Given the description of an element on the screen output the (x, y) to click on. 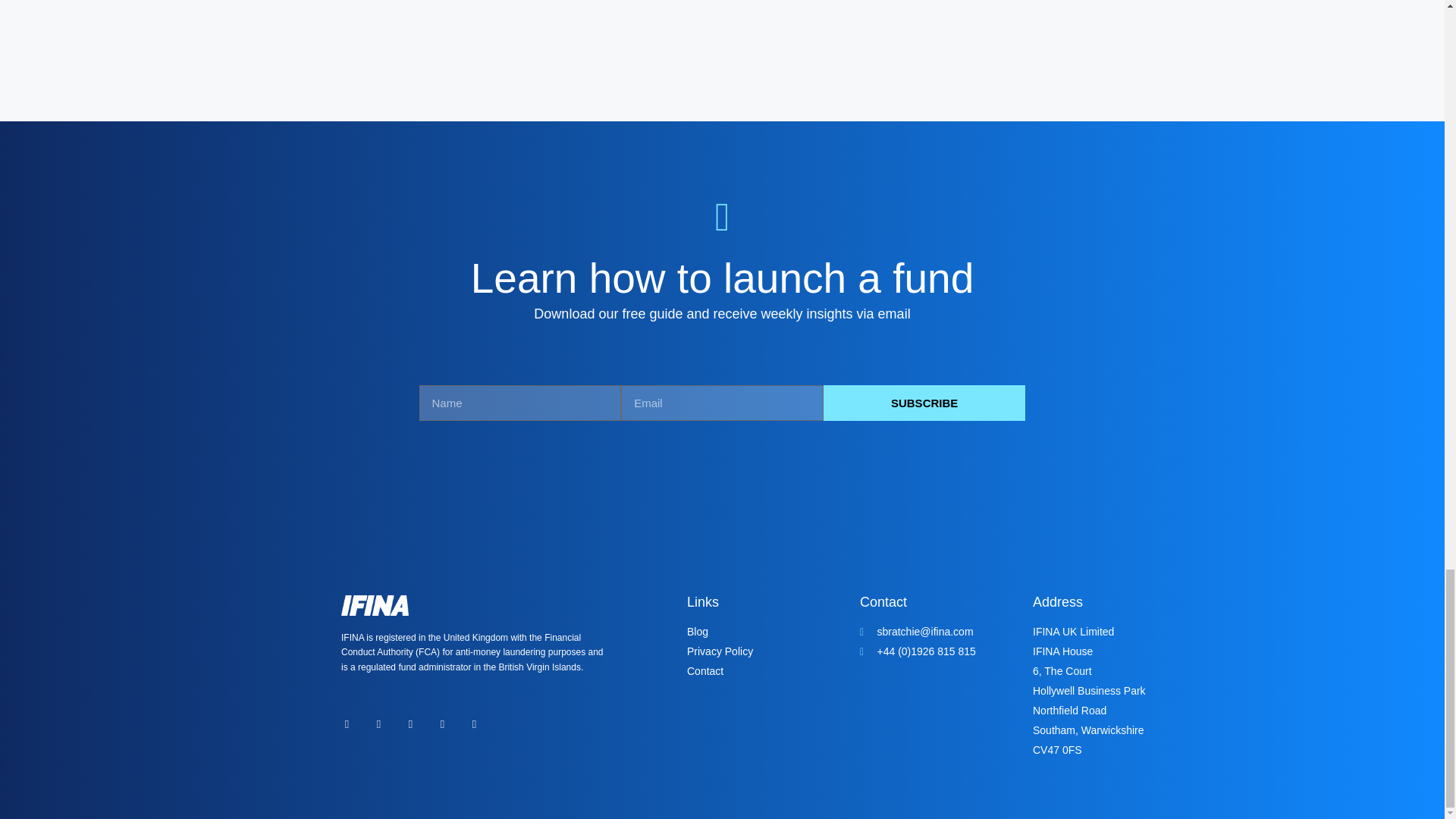
Contact (765, 671)
SUBSCRIBE (925, 402)
Privacy Policy (765, 651)
Blog (765, 631)
